Given the description of an element on the screen output the (x, y) to click on. 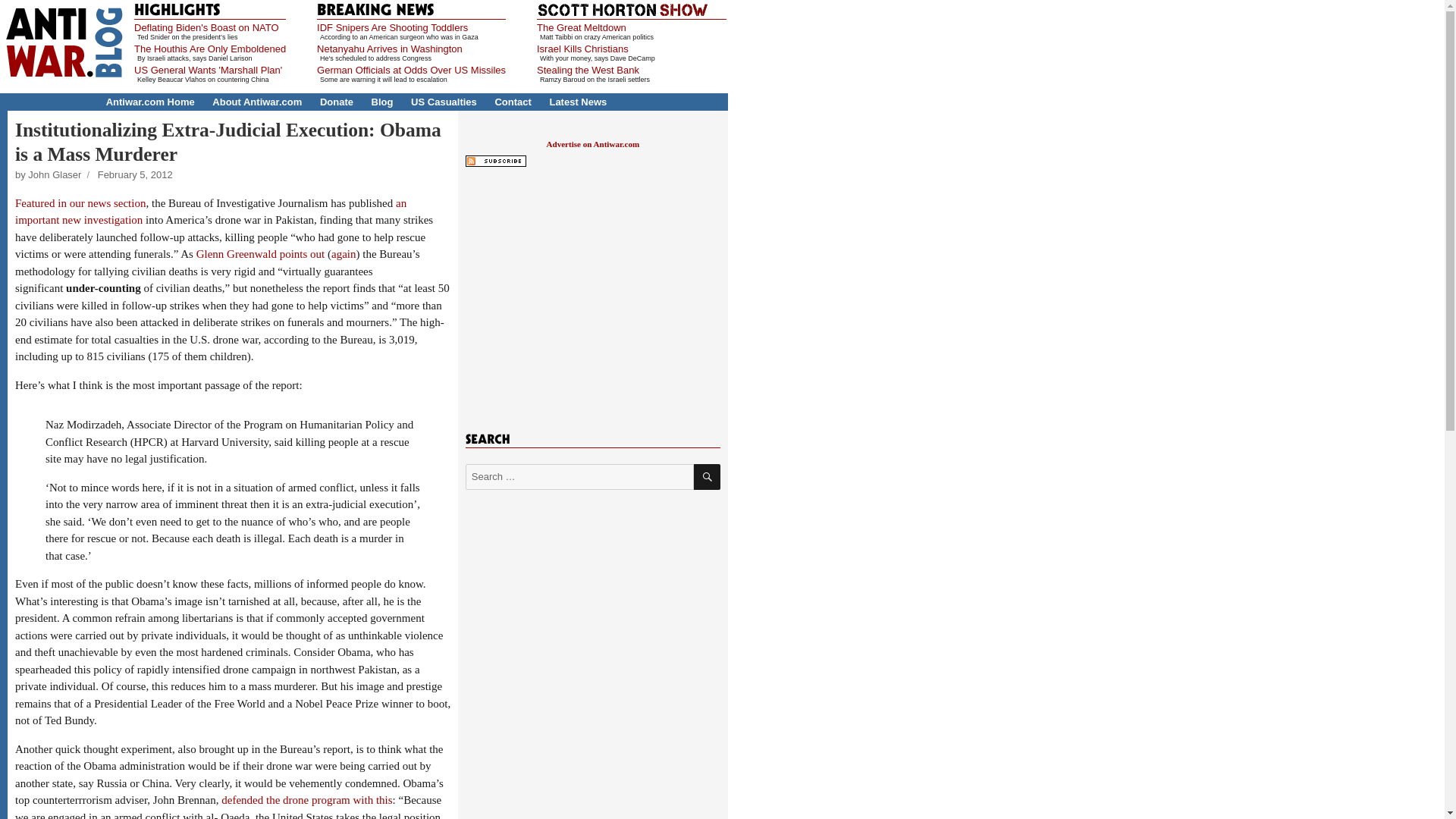
Stealing the West Bank (588, 70)
Latest News (577, 101)
The Houthis Are Only Emboldened (209, 48)
Glenn Greenwald points out (260, 254)
Deflating Biden's Boast on NATO (206, 27)
The Great Meltdown (581, 27)
defended the drone program with this (306, 799)
3rd party ad content (592, 293)
IDF Snipers Are Shooting Toddlers (392, 27)
February 5, 2012 (135, 174)
US General Wants 'Marshall Plan' (207, 70)
About Antiwar.com (256, 101)
Blog (382, 101)
Donate (336, 101)
Contact (513, 101)
